Given the description of an element on the screen output the (x, y) to click on. 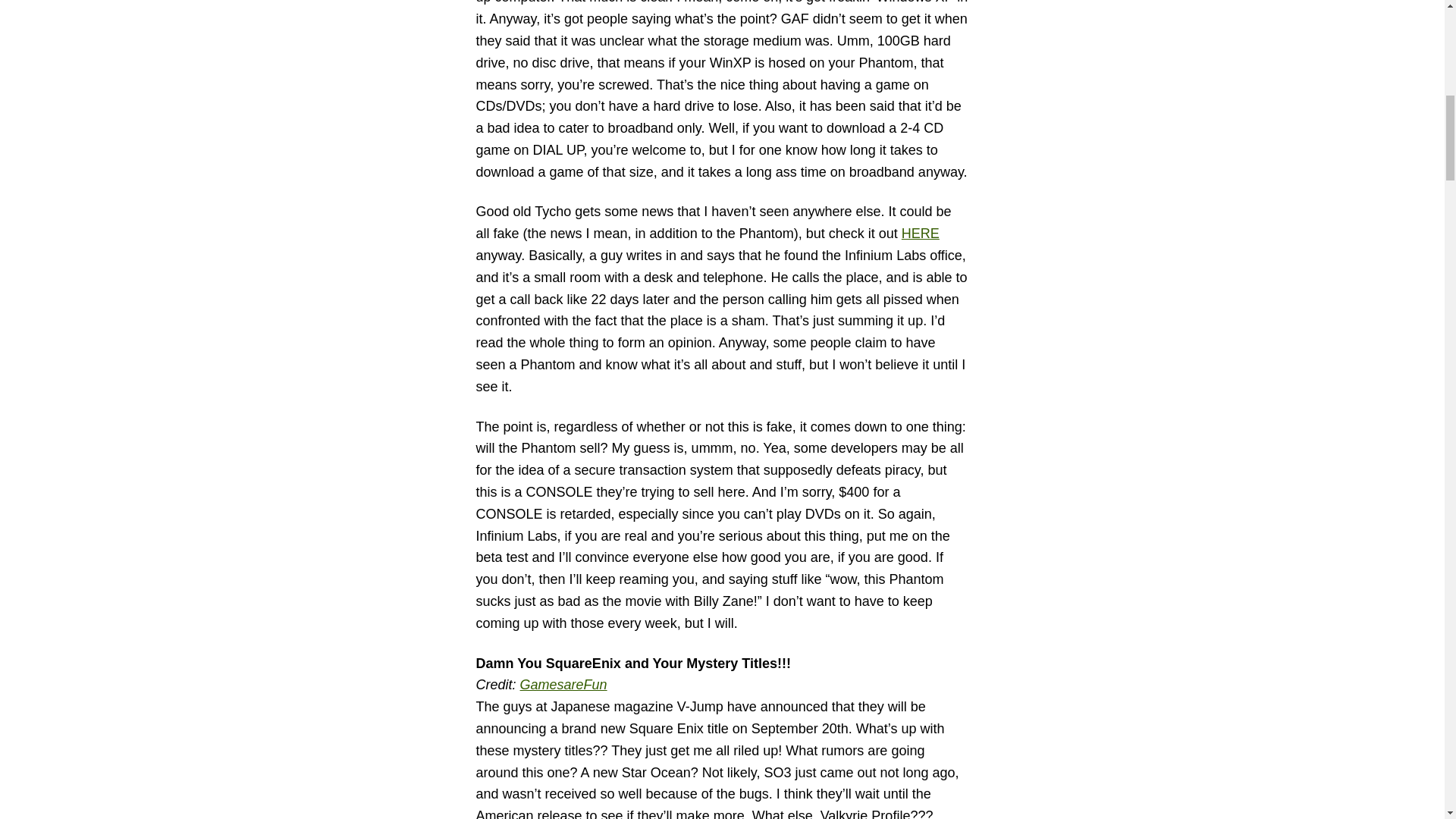
GamesareFun (563, 684)
HERE (920, 233)
